Given the description of an element on the screen output the (x, y) to click on. 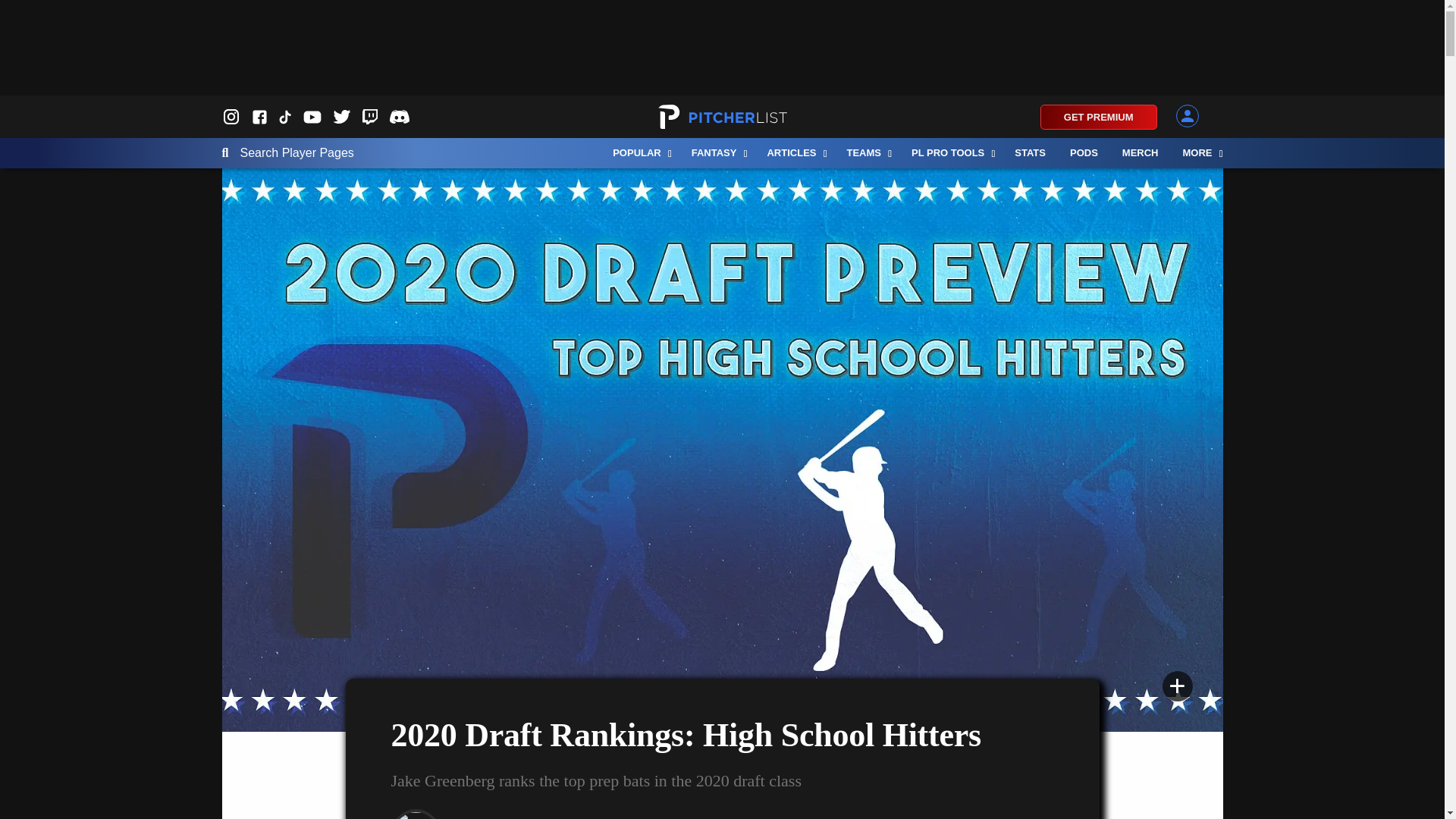
GET PREMIUM (1099, 116)
FANTASY (717, 153)
